Given the description of an element on the screen output the (x, y) to click on. 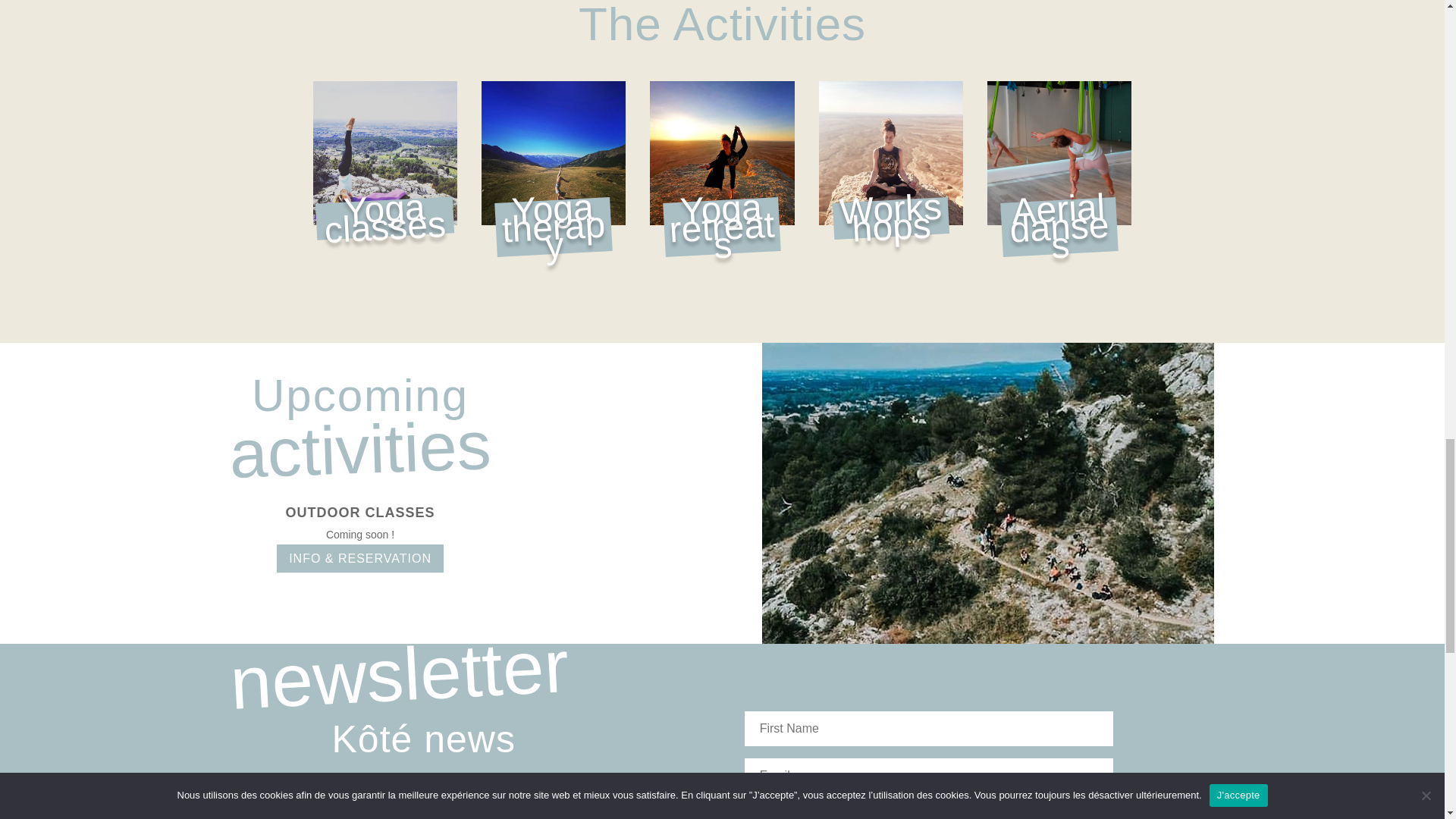
Cours-de-yoga-en-provence-luberon-retraites-300x300-1 (553, 153)
SUBSCRIBE (928, 812)
danse aerienne 2 (1059, 153)
Cours-de-yoga-en-provence-luberon (385, 153)
Cours-de-yoga-en-provence-luberon-ateliers-300x300-1 (721, 153)
